Given the description of an element on the screen output the (x, y) to click on. 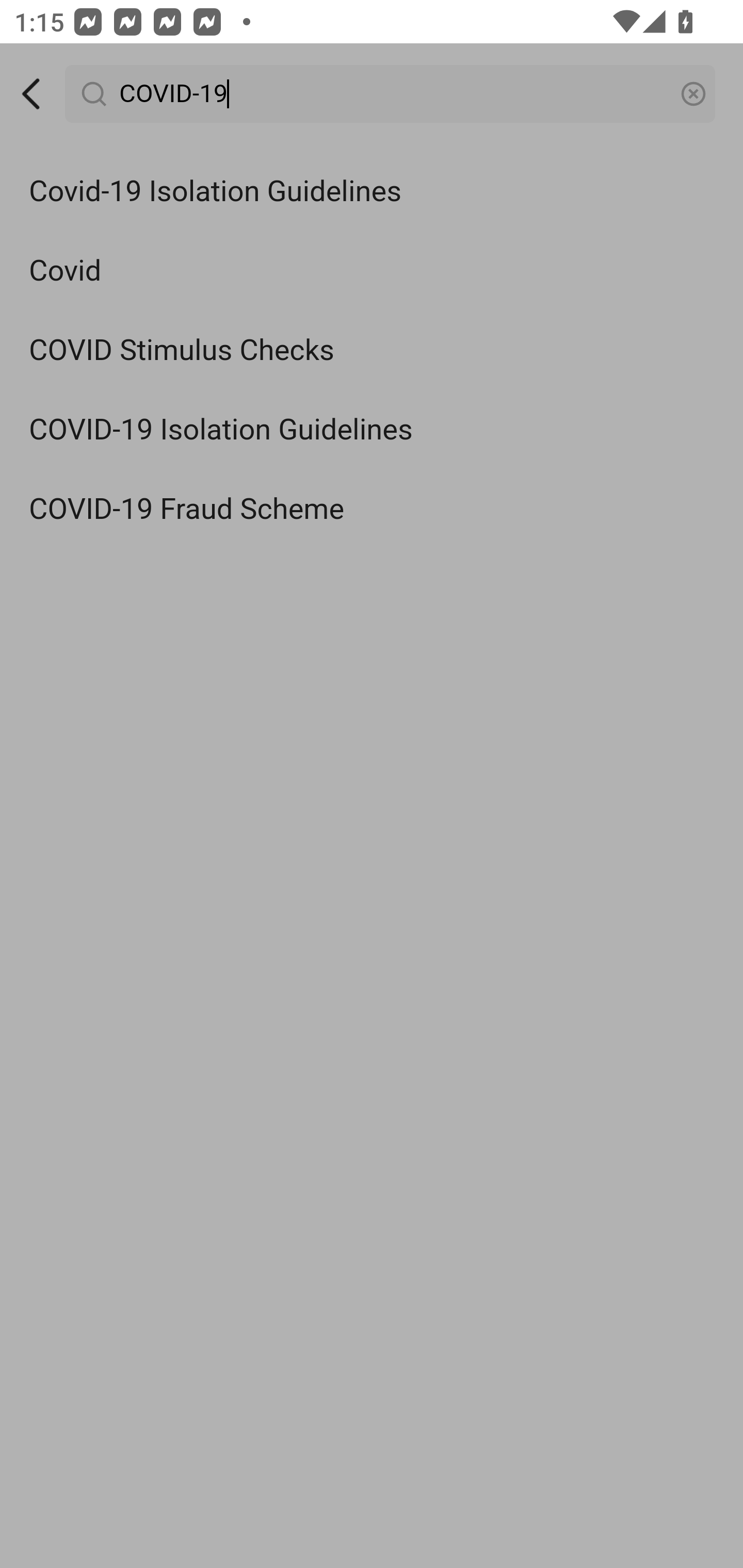
COVID-19 (390, 93)
Covid-19 Isolation Guidelines (371, 192)
Covid (371, 270)
COVID Stimulus Checks (371, 351)
COVID-19 Isolation Guidelines (371, 430)
COVID-19 Fraud Scheme (371, 508)
